Given the description of an element on the screen output the (x, y) to click on. 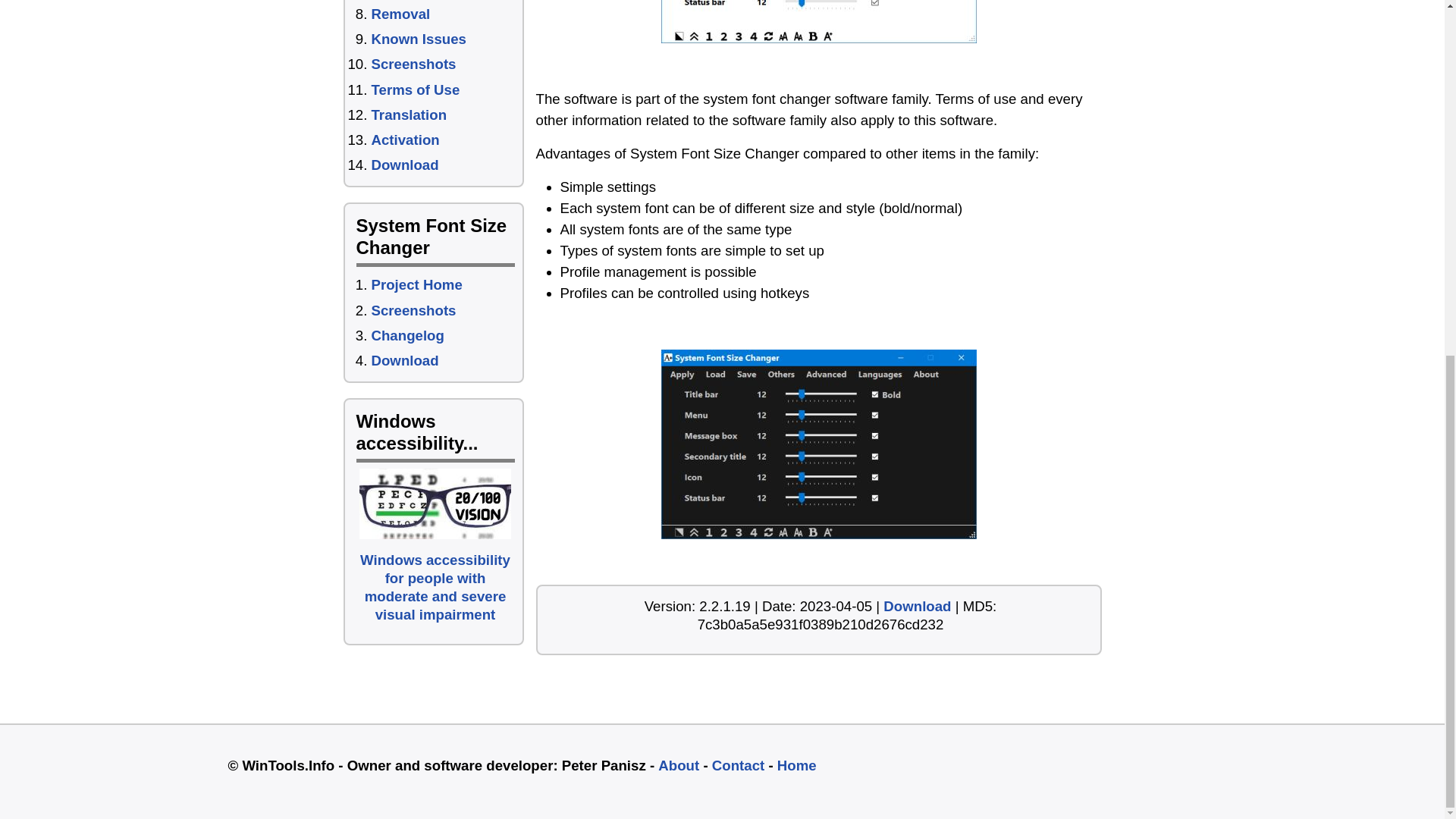
Download (405, 164)
Download (916, 606)
Screenshots (414, 310)
Translation (408, 114)
Known Issues (418, 38)
Project Home (417, 284)
About (678, 765)
Activation (405, 139)
Removal (400, 13)
